Given the description of an element on the screen output the (x, y) to click on. 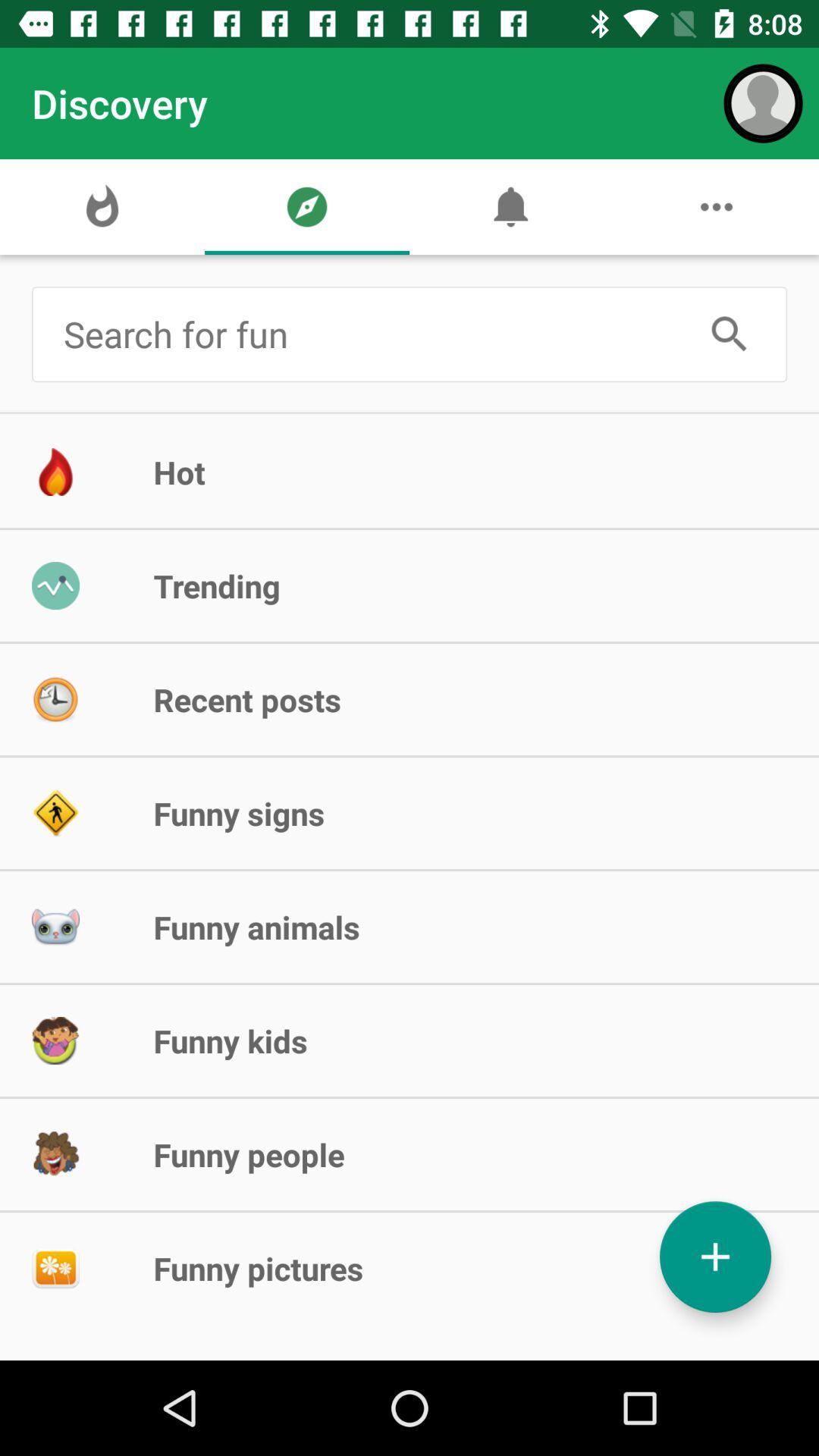
to search (729, 334)
